Given the description of an element on the screen output the (x, y) to click on. 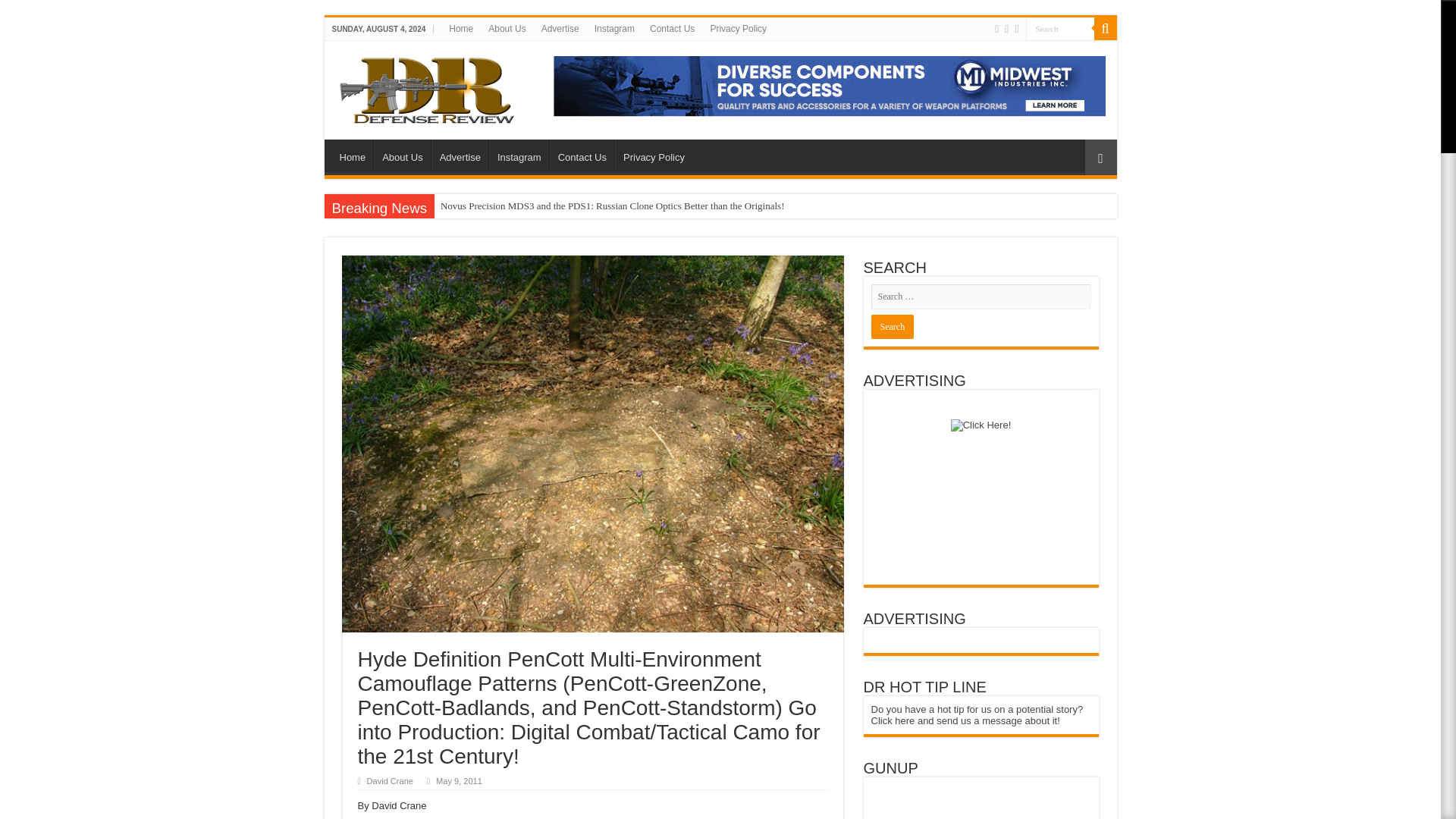
Home (352, 155)
Home (460, 28)
Search (892, 326)
Search (1104, 28)
Search (892, 326)
Contact Us (582, 155)
Search (1059, 28)
Advertise (560, 28)
About Us (506, 28)
Privacy Policy (653, 155)
Instagram (614, 28)
David Crane (389, 780)
Instagram (518, 155)
